Given the description of an element on the screen output the (x, y) to click on. 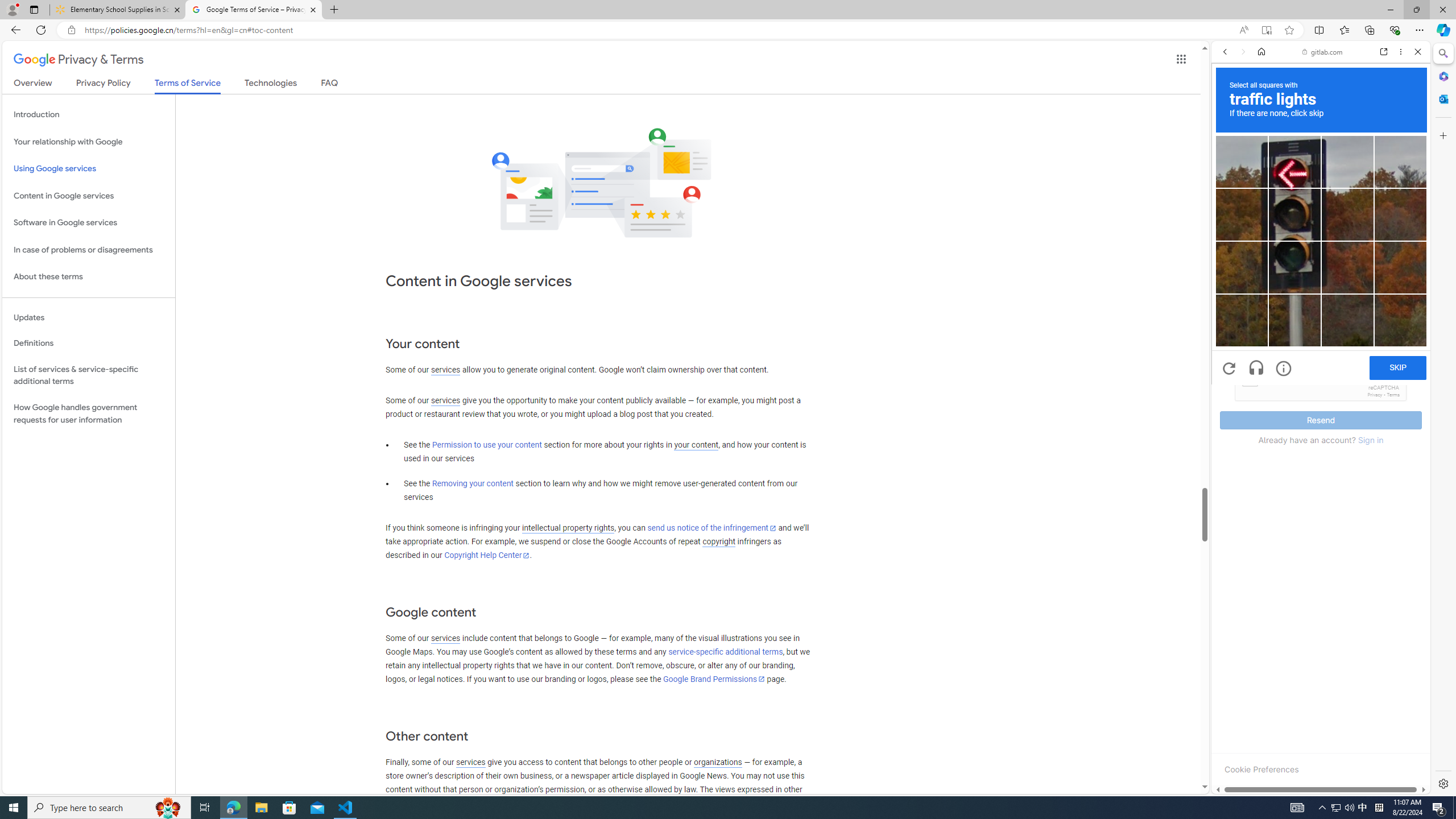
Resend (1321, 420)
Cookie Preferences (1261, 769)
